Given the description of an element on the screen output the (x, y) to click on. 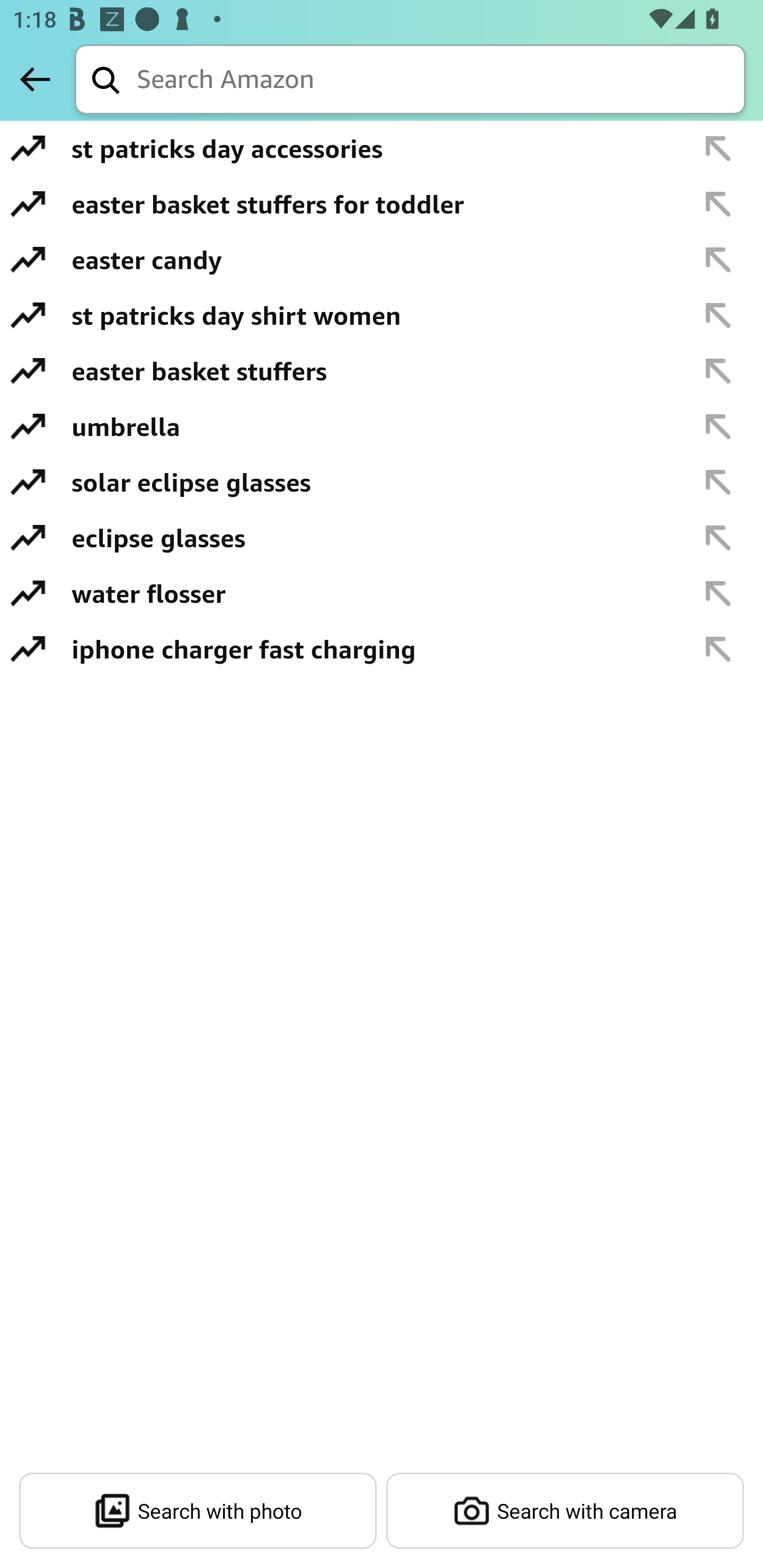
Back (35, 85)
Search Search Search Amazon scan it (416, 85)
